Given the description of an element on the screen output the (x, y) to click on. 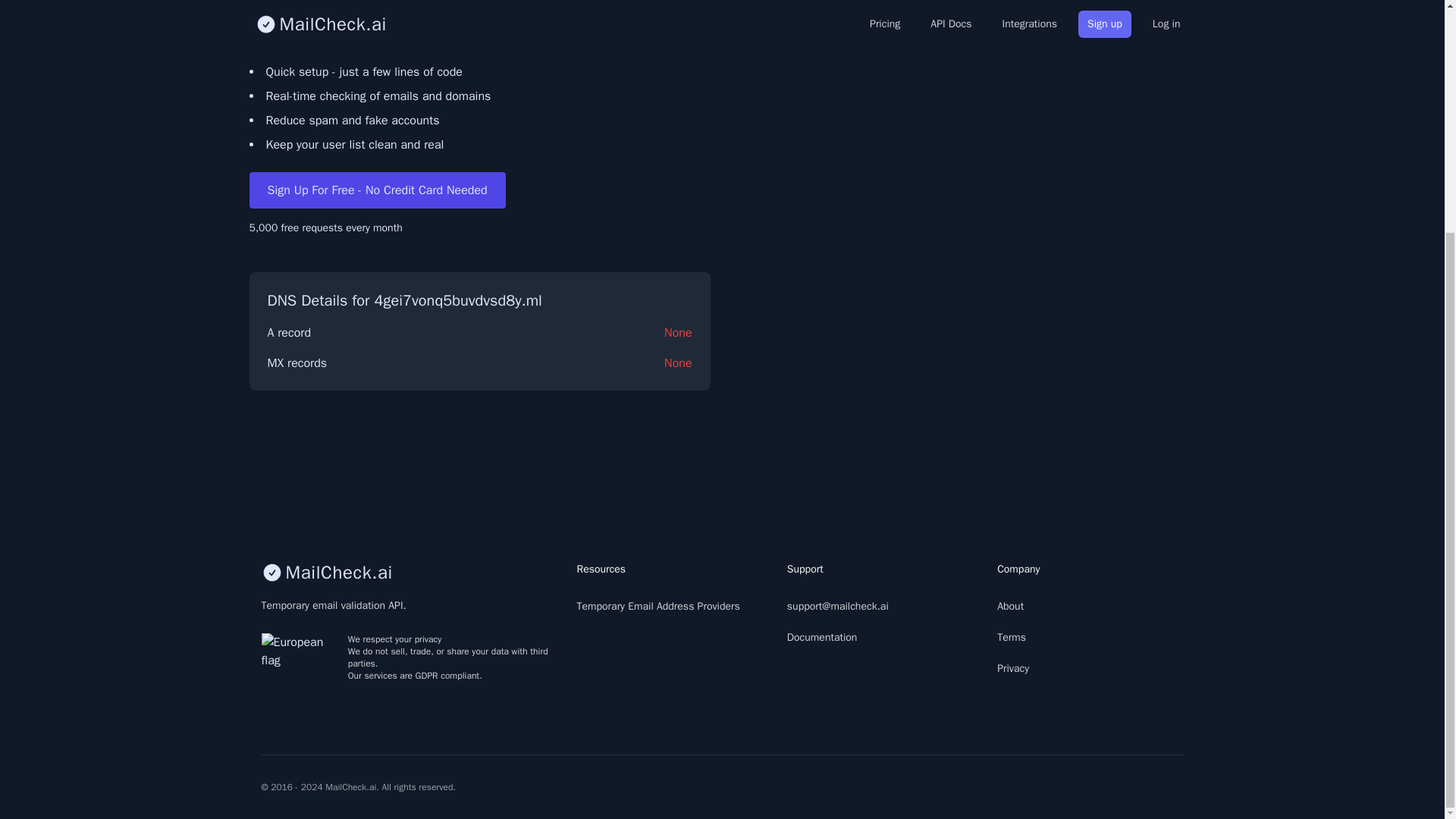
Privacy (1013, 667)
Terms (1011, 636)
Temporary Email Address Providers (657, 605)
Sign Up For Free - No Credit Card Needed (376, 189)
About (1010, 605)
MailCheck.ai (405, 572)
Documentation (822, 636)
